Given the description of an element on the screen output the (x, y) to click on. 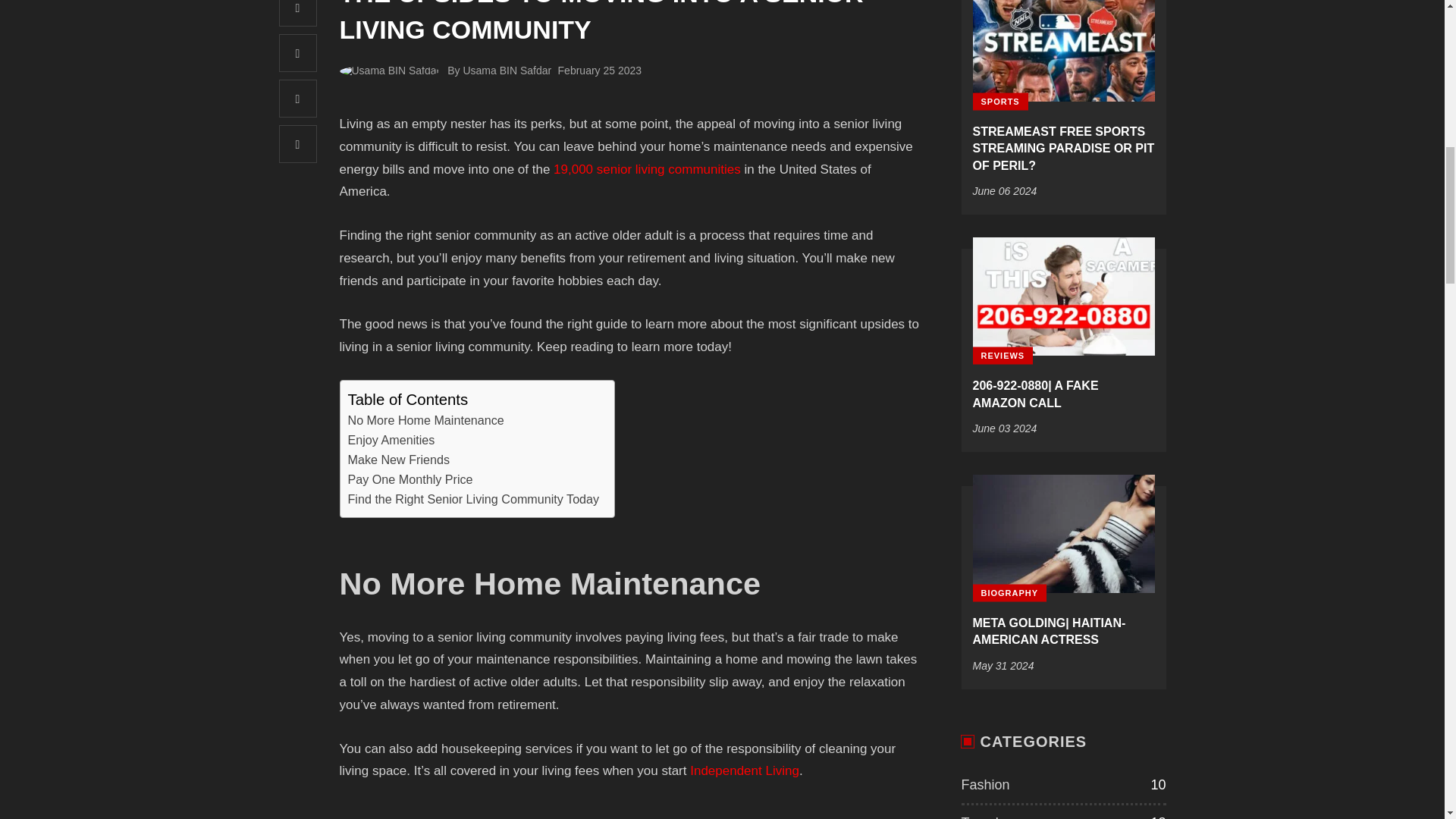
By Usama BIN Safdar (498, 70)
Share on Pinterest (298, 98)
Make New Friends (398, 460)
19,000 senior living communities (647, 169)
No More Home Maintenance (425, 420)
Find the Right Senior Living Community Today (472, 499)
Share on Facebook (298, 13)
Pay One Monthly Price (409, 479)
No More Home Maintenance (425, 420)
February 25, 2023 at 8:15 am (599, 70)
Share on Twitter (298, 53)
Enjoy Amenities (390, 440)
Enjoy Amenities (390, 440)
Posts byUsama BIN Safdar (393, 70)
Share on Linkedin (298, 143)
